Given the description of an element on the screen output the (x, y) to click on. 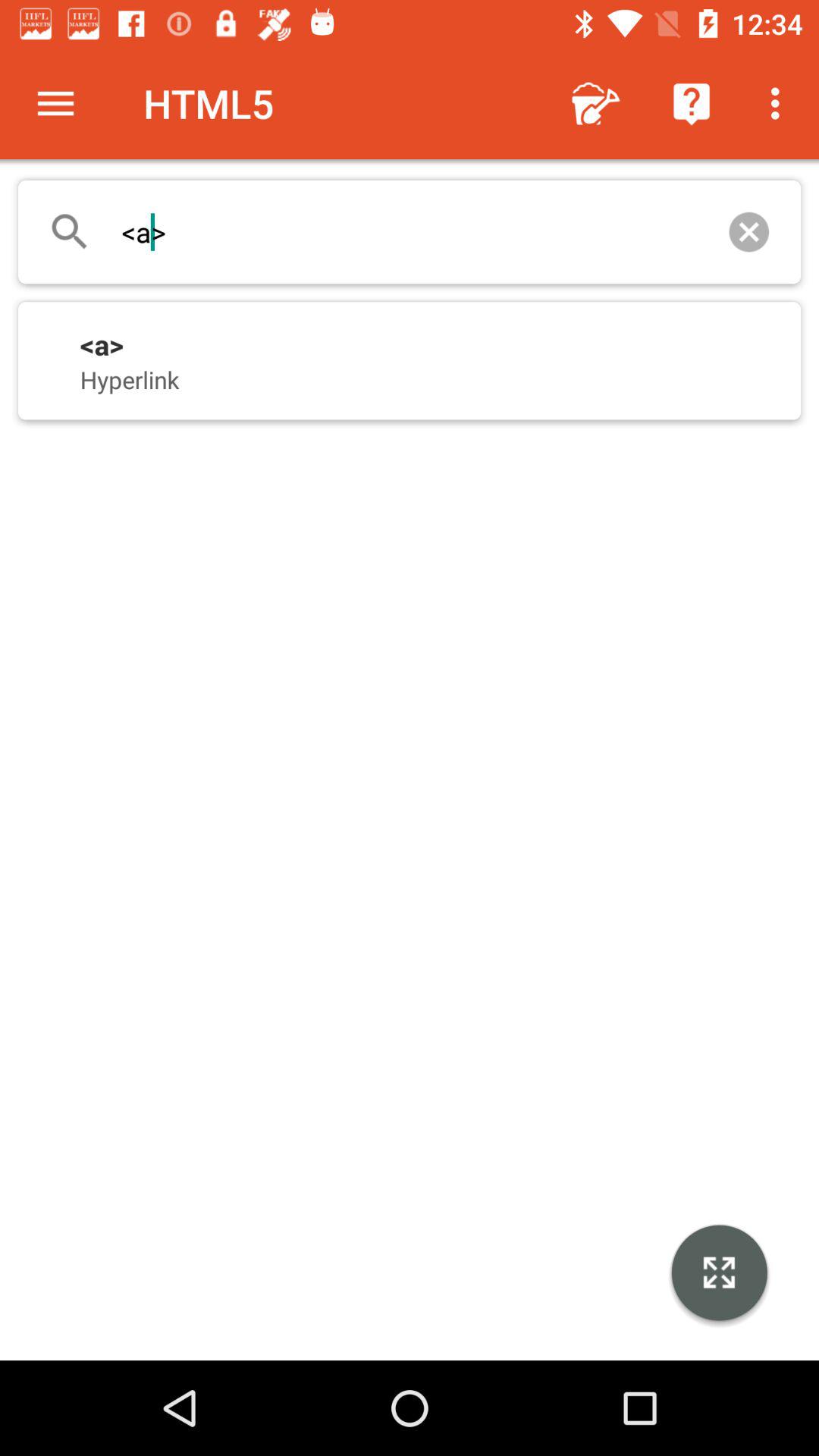
select the item to the right of the <a> item (748, 231)
